Given the description of an element on the screen output the (x, y) to click on. 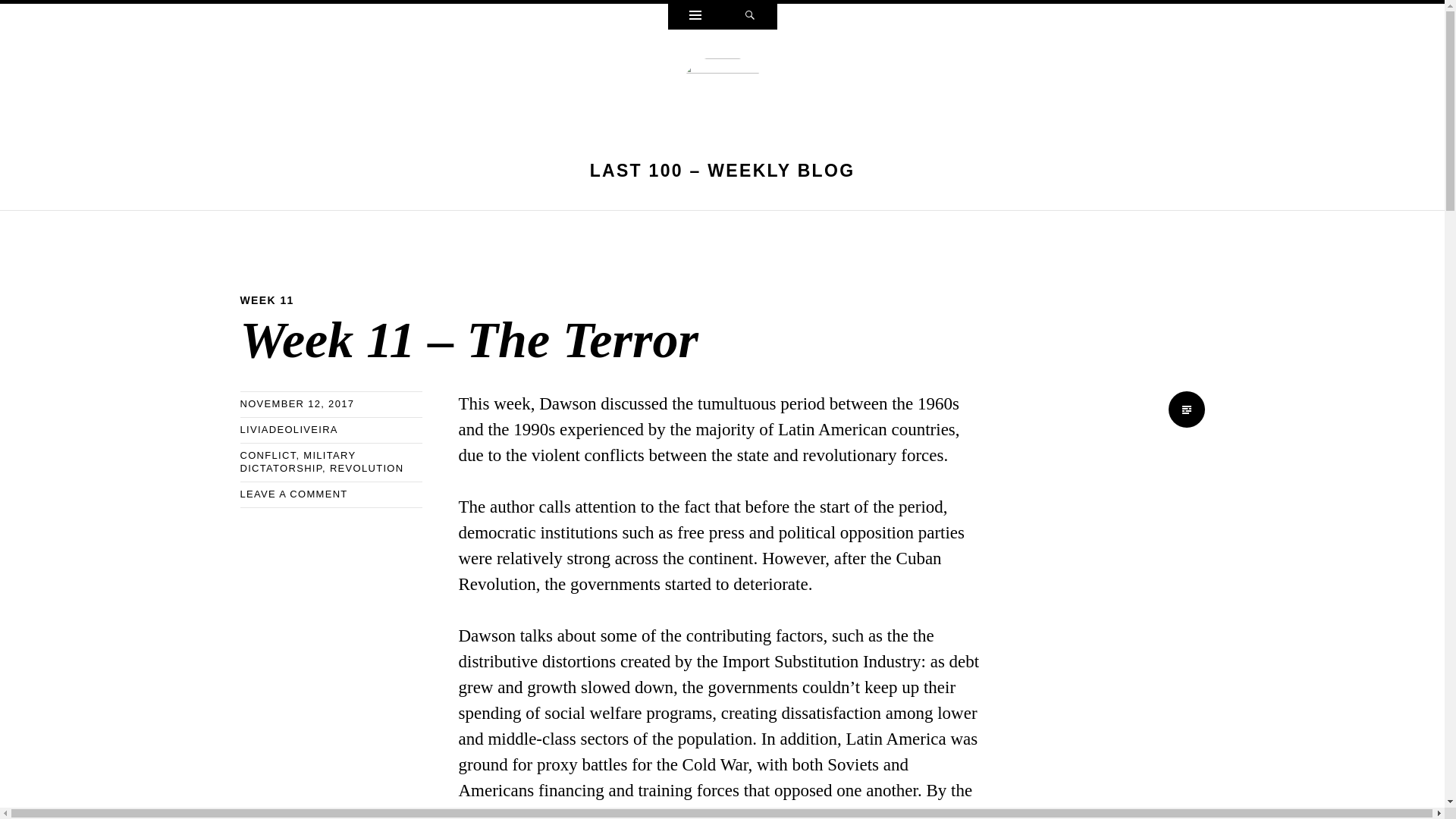
Widgets (694, 16)
6:24 pm (296, 403)
Widgets (694, 16)
View all posts by LiviadeOliveira (288, 429)
Search (749, 16)
Search (749, 16)
WEEK 11 (267, 300)
